Given the description of an element on the screen output the (x, y) to click on. 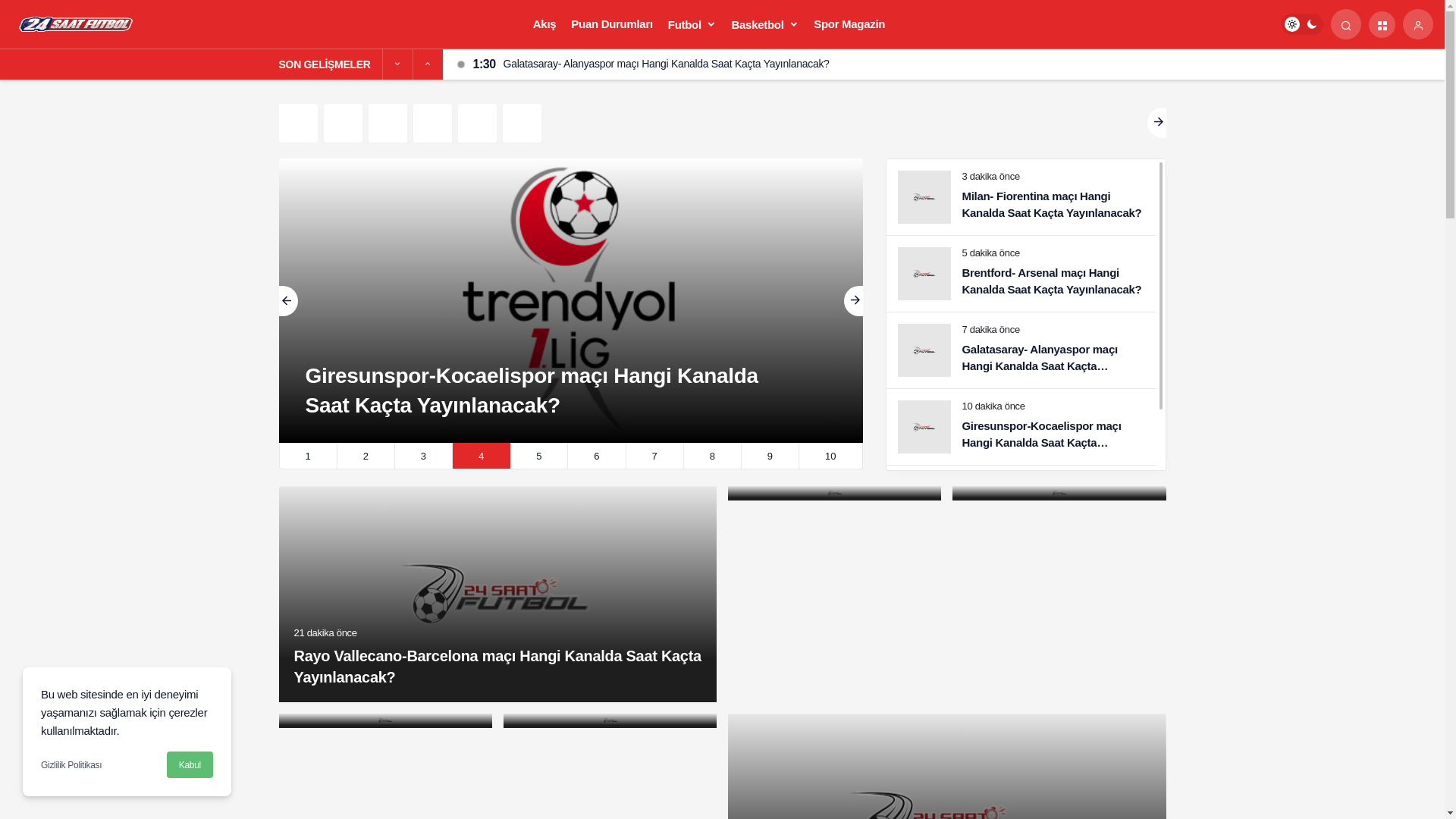
Futbol Element type: text (692, 24)
Basketbol Element type: text (765, 24)
2 Element type: text (365, 455)
Gaziantep Element type: hover (342, 122)
Trabzonspor Element type: hover (521, 122)
9 Element type: text (769, 455)
4 Element type: text (480, 455)
8 Element type: text (712, 455)
10 Element type: text (830, 455)
Konyaspor Element type: hover (477, 122)
1 Element type: text (307, 455)
Spor Magazin Element type: text (849, 24)
6 Element type: text (596, 455)
24 Saat Futbol Element type: hover (77, 22)
3 Element type: text (423, 455)
7 Element type: text (654, 455)
Kayserispor Element type: hover (431, 122)
Galatasaray Element type: hover (298, 122)
Kabul Element type: text (189, 764)
5 Element type: text (538, 455)
